Given the description of an element on the screen output the (x, y) to click on. 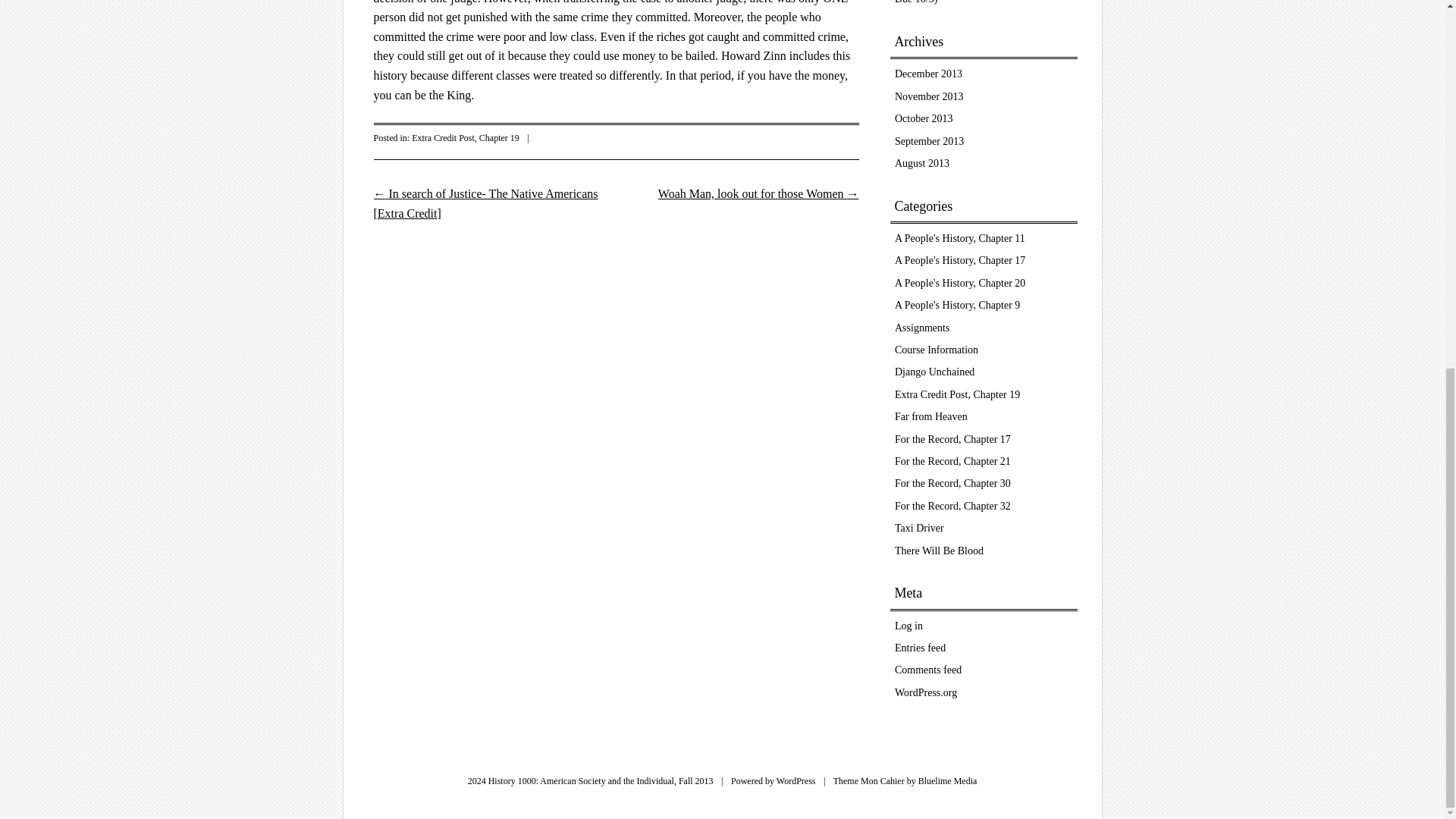
Taxi Driver (919, 527)
For the Record, Chapter 21 (952, 460)
Course Information (936, 349)
Assignments (922, 327)
For the Record, Chapter 30 (952, 482)
A People's History, Chapter 20 (960, 283)
A People's History, Chapter 9 (957, 305)
Log in (909, 625)
December 2013 (928, 73)
For the Record, Chapter 17 (952, 439)
A People's History, Chapter 11 (960, 238)
September 2013 (929, 141)
Django Unchained (934, 371)
October 2013 (924, 118)
There Will Be Blood (939, 550)
